Given the description of an element on the screen output the (x, y) to click on. 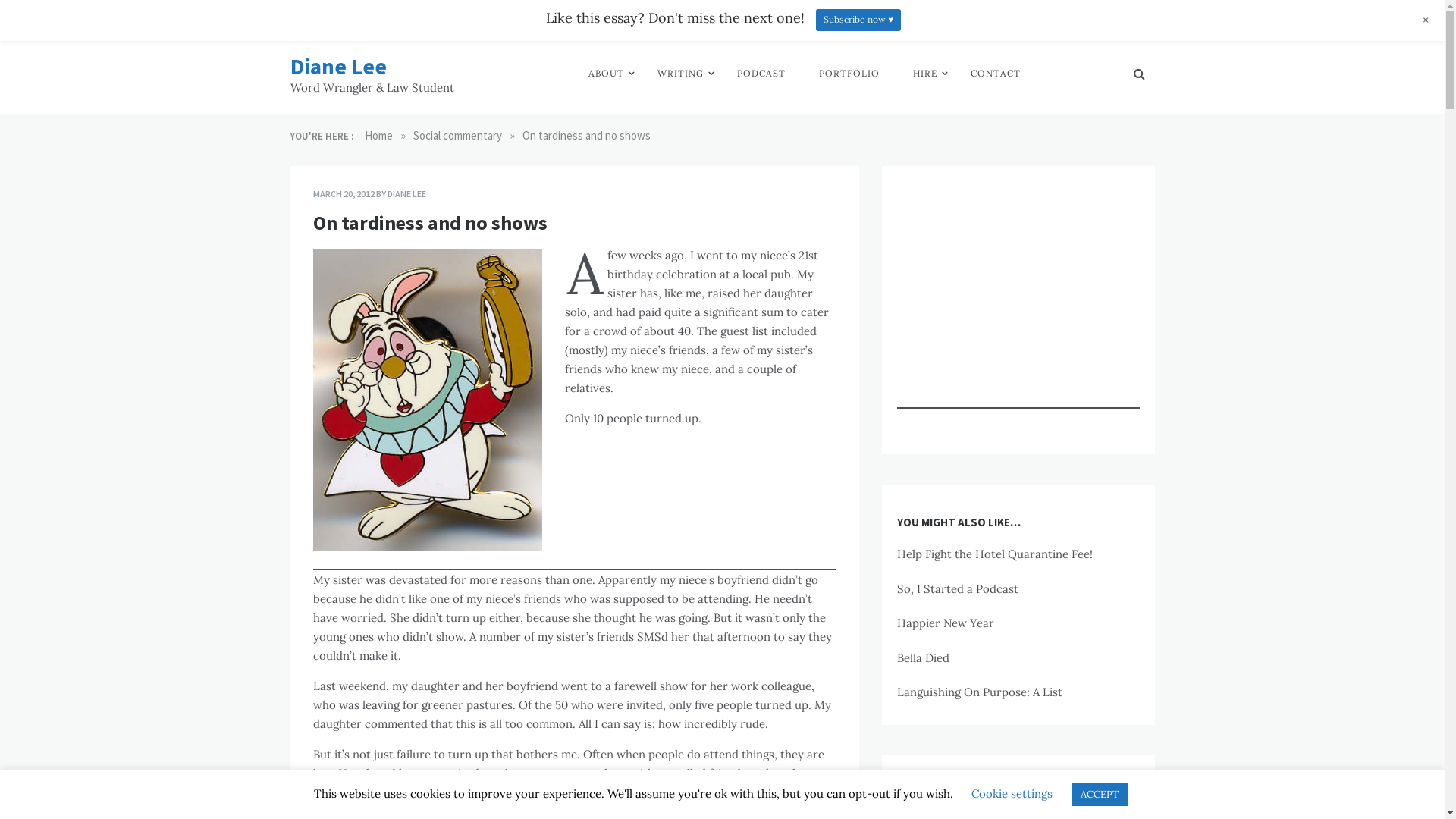
+ Element type: text (1425, 20)
HIRE Element type: text (924, 73)
Happier New Year Element type: text (944, 622)
PORTFOLIO Element type: text (848, 73)
Languishing On Purpose: A List Element type: text (978, 691)
ACCEPT Element type: text (1098, 794)
Help Fight the Hotel Quarantine Fee! Element type: text (994, 553)
MARCH 20, 2012 Element type: text (342, 193)
Home Element type: text (378, 135)
Cookie settings Element type: text (1010, 793)
Bella Died Element type: text (922, 657)
ABOUT Element type: text (606, 73)
WRITING Element type: text (679, 73)
DIANE LEE Element type: text (405, 193)
Diane Lee Element type: text (337, 66)
Social commentary Element type: text (456, 135)
PODCAST Element type: text (760, 73)
Advertisement Element type: hover (573, 627)
So, I Started a Podcast Element type: text (956, 588)
CONTACT Element type: text (995, 73)
Tardiness and no shows Element type: hover (426, 400)
Advertisement Element type: hover (1017, 313)
